Given the description of an element on the screen output the (x, y) to click on. 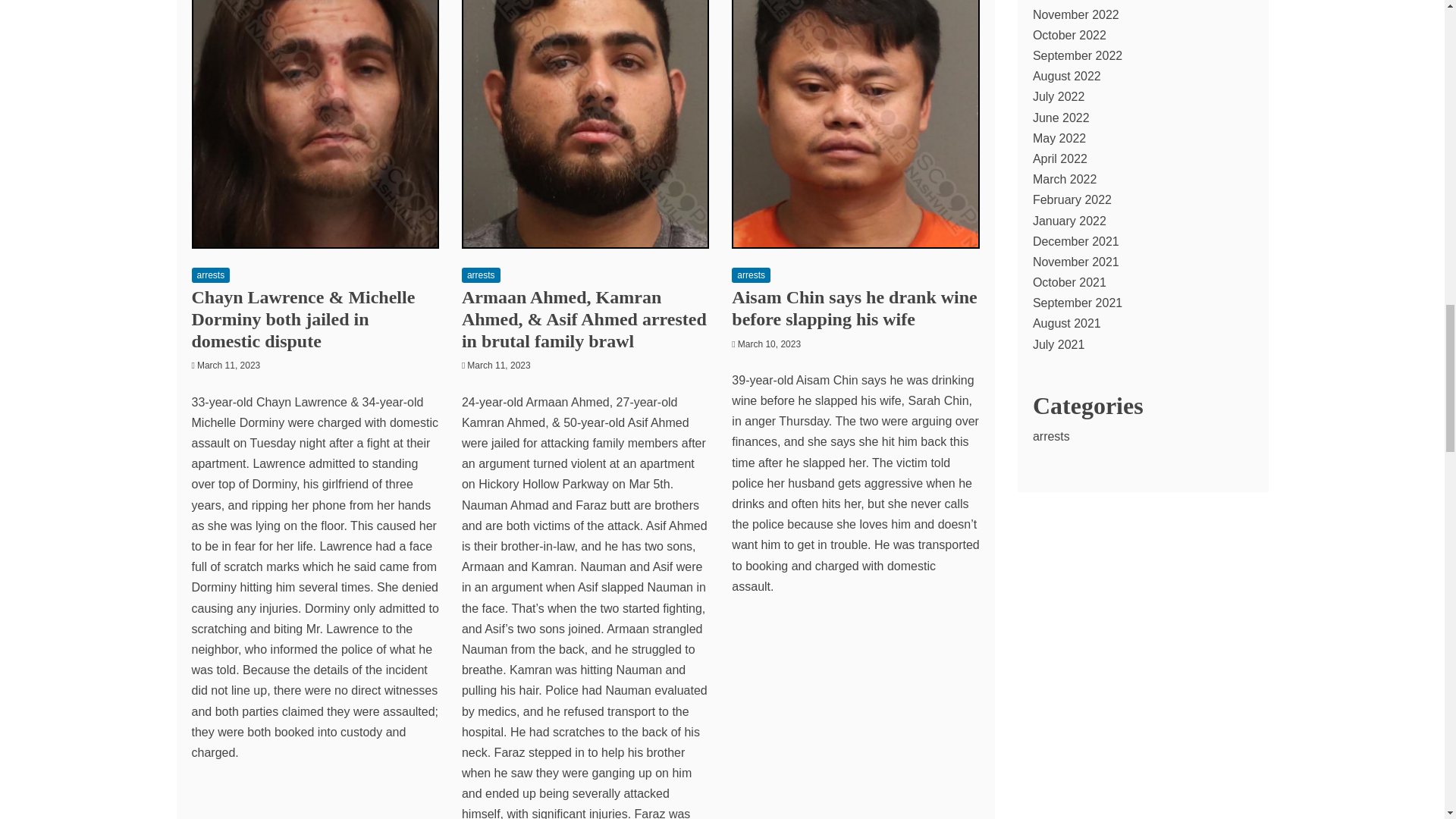
arrests (751, 274)
arrests (480, 274)
March 11, 2023 (498, 365)
March 11, 2023 (228, 365)
Aisam Chin says he drank wine before slapping his wife (854, 308)
arrests (210, 274)
March 10, 2023 (769, 344)
